Given the description of an element on the screen output the (x, y) to click on. 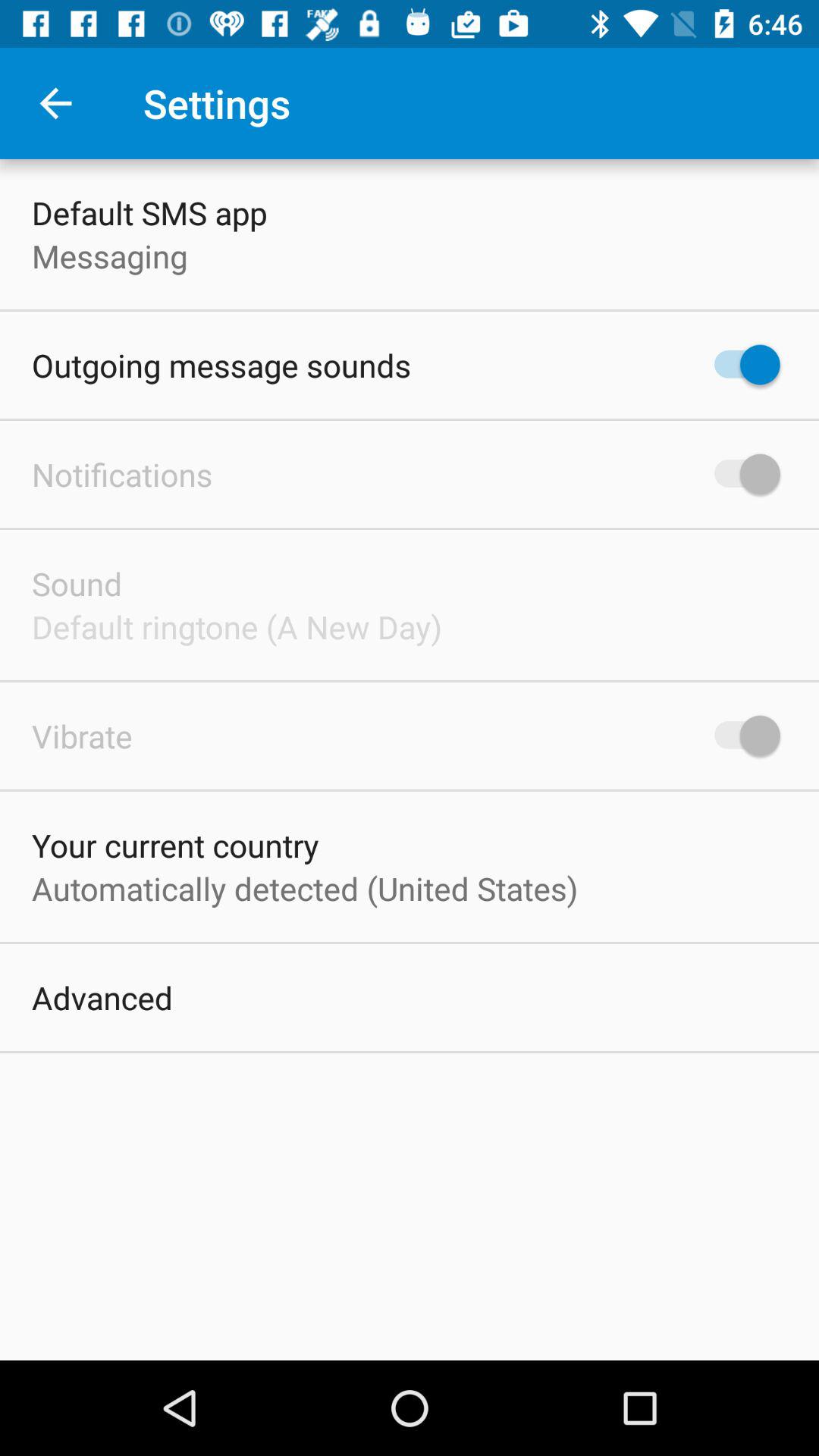
turn off item below the your current country icon (304, 888)
